Given the description of an element on the screen output the (x, y) to click on. 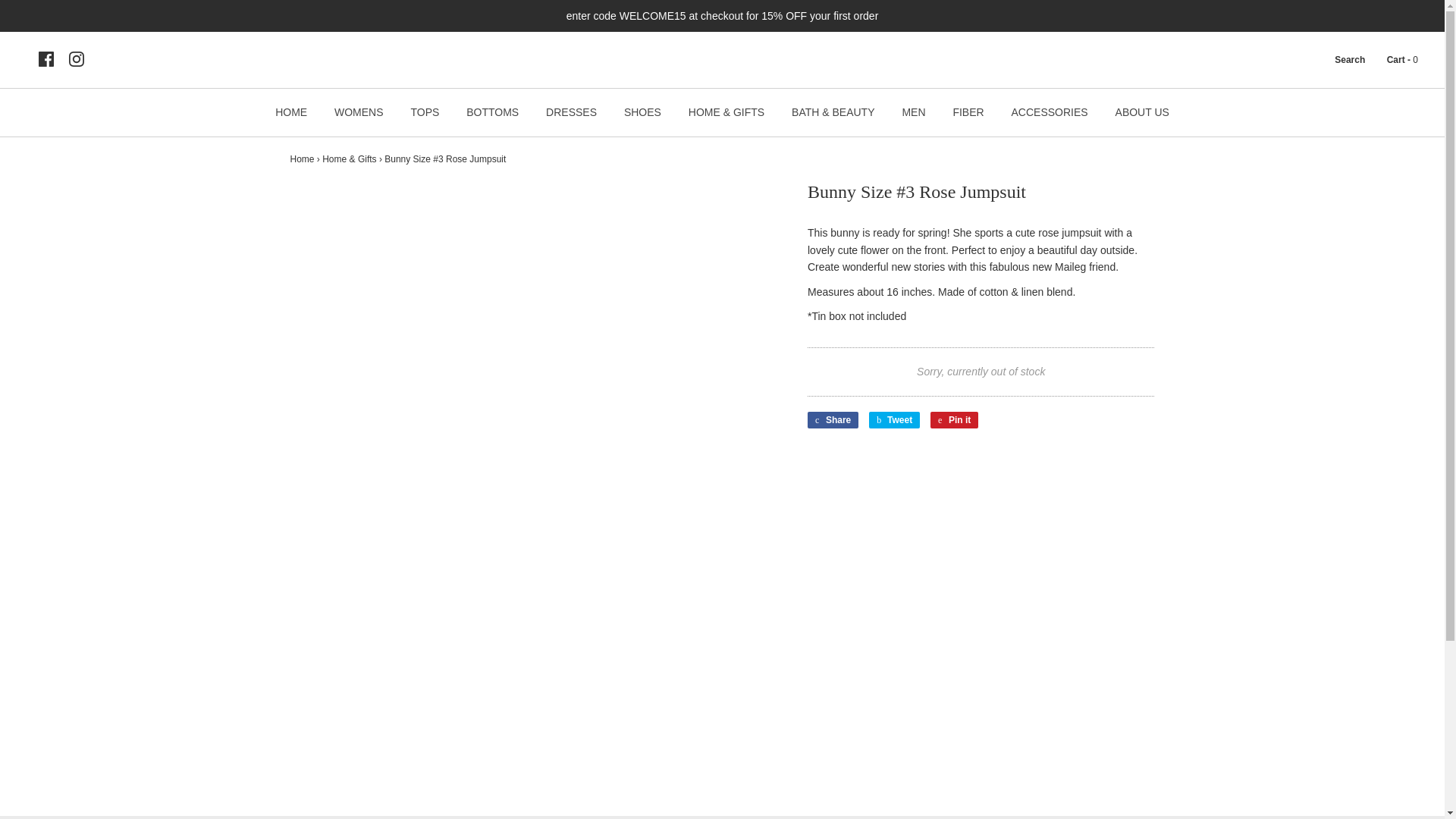
Search (1340, 59)
Back to the frontpage (301, 158)
Instagram icon (76, 59)
BOTTOMS (491, 111)
Cart (1393, 59)
Instagram icon (76, 58)
Cart - 0 (1393, 59)
WOMENS (358, 111)
Search (1340, 59)
DRESSES (571, 111)
TOPS (423, 111)
HOME (290, 111)
Facebook icon (46, 58)
SHOES (642, 111)
Facebook icon (46, 59)
